Given the description of an element on the screen output the (x, y) to click on. 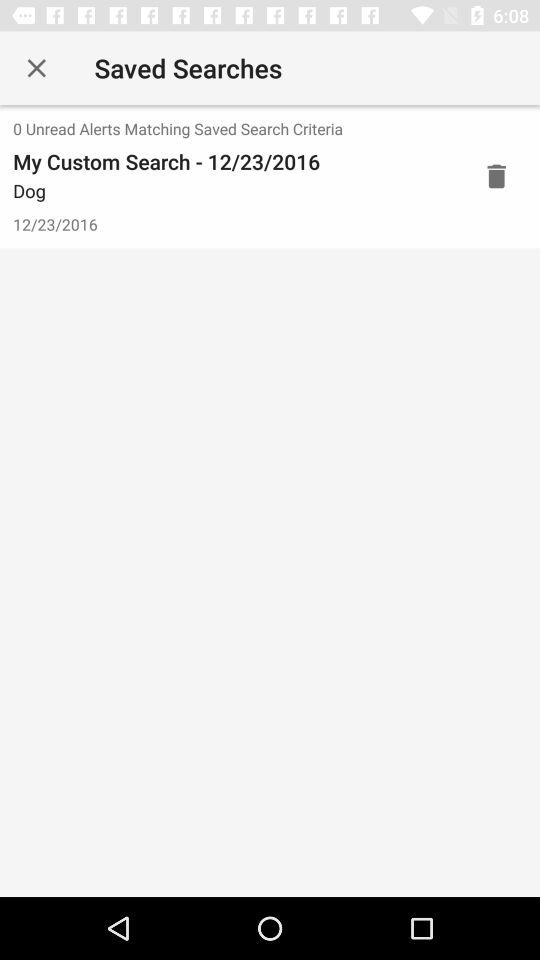
close tab (36, 68)
